Given the description of an element on the screen output the (x, y) to click on. 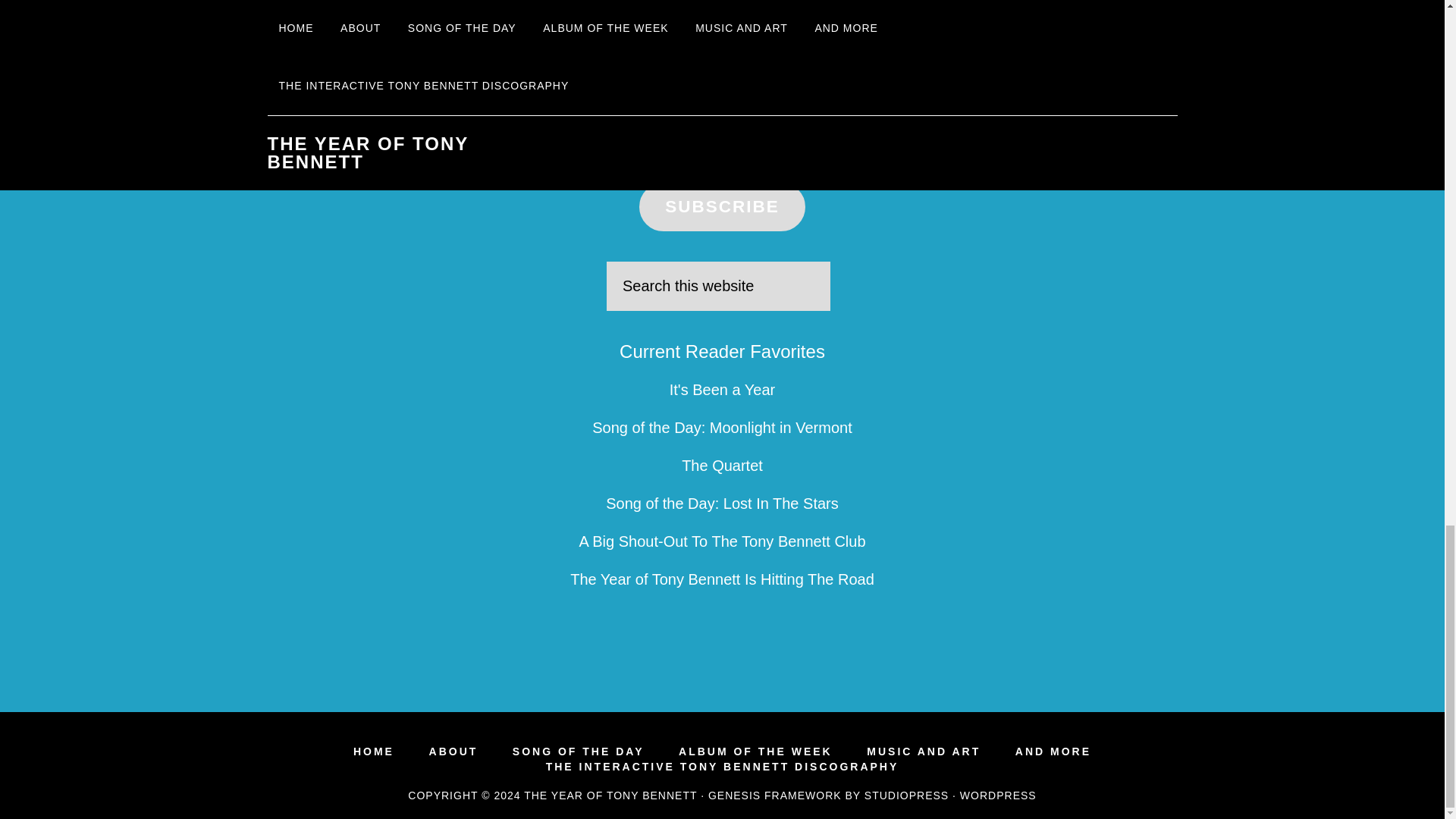
SUBSCRIBE (722, 206)
It's Been a Year (721, 389)
